Given the description of an element on the screen output the (x, y) to click on. 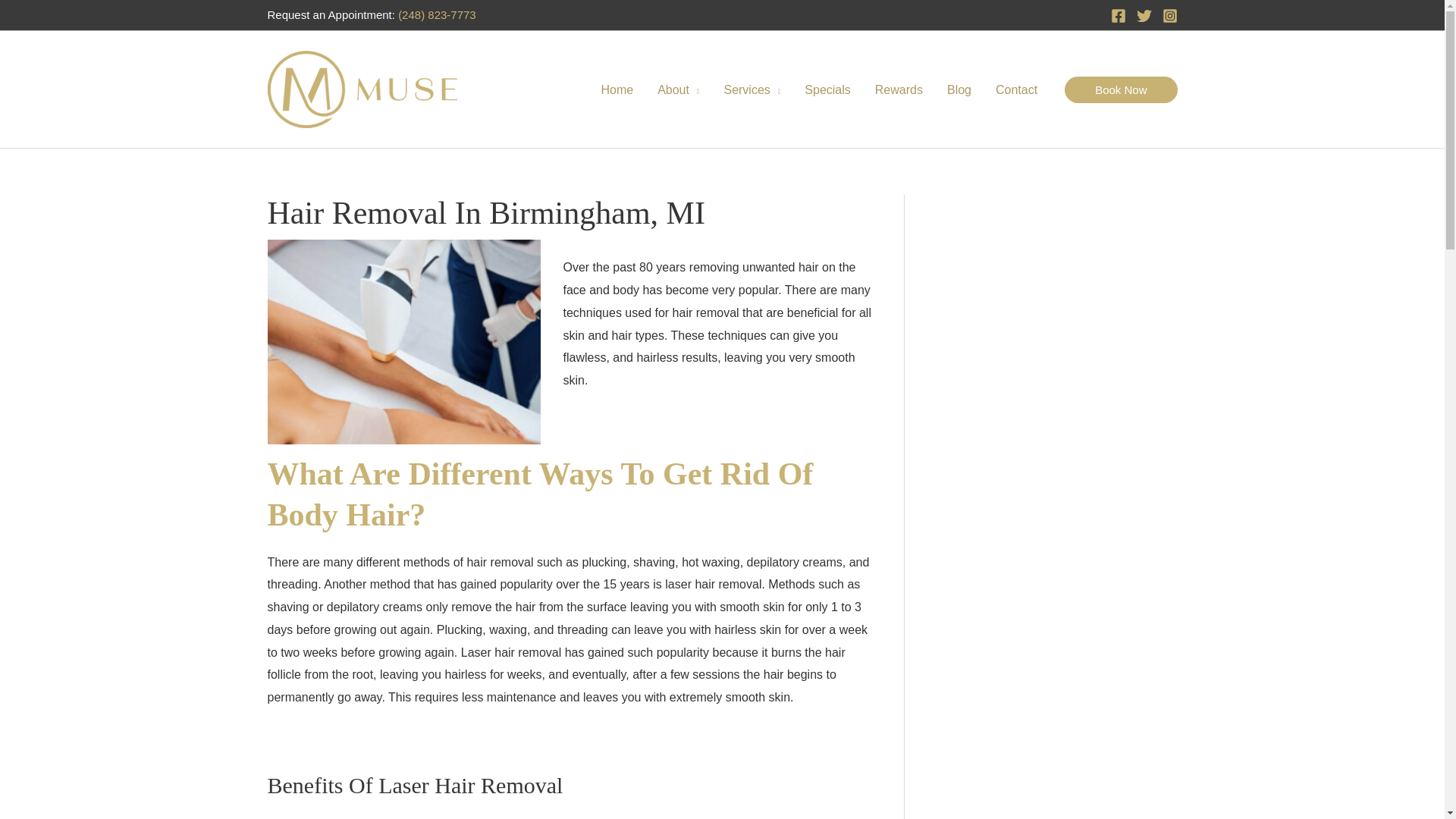
About (678, 88)
Services (751, 88)
Home (616, 88)
